Given the description of an element on the screen output the (x, y) to click on. 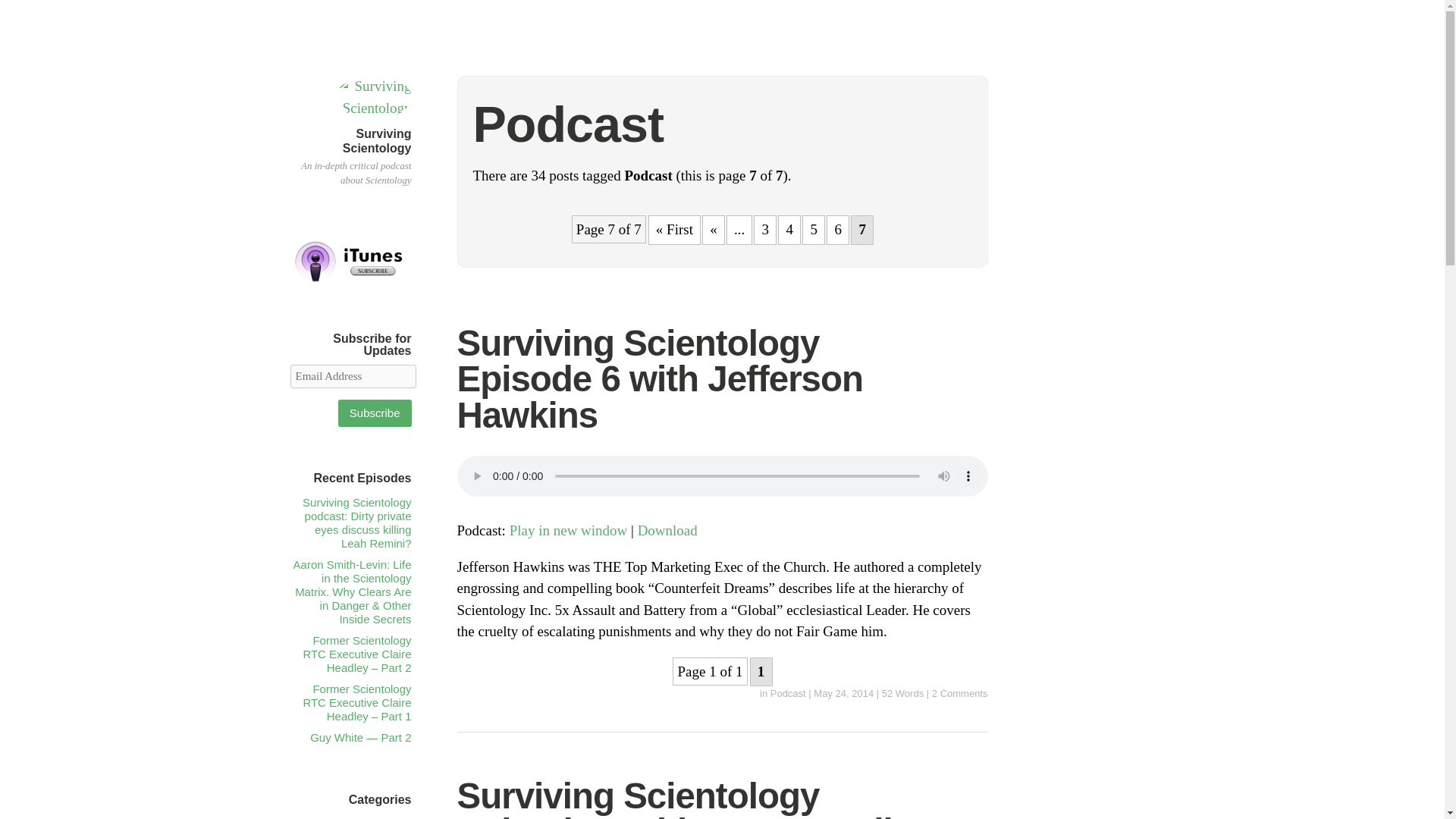
Surviving Scientology (377, 140)
Surviving Scientology (372, 107)
Podcast (788, 693)
Surviving Scientology Episode 6 with Jefferson Hawkins (843, 693)
Download (667, 530)
Surviving Scientology (377, 140)
Subscribe (374, 412)
2 Comments (959, 693)
Play in new window (568, 530)
Play in new window (568, 530)
